Given the description of an element on the screen output the (x, y) to click on. 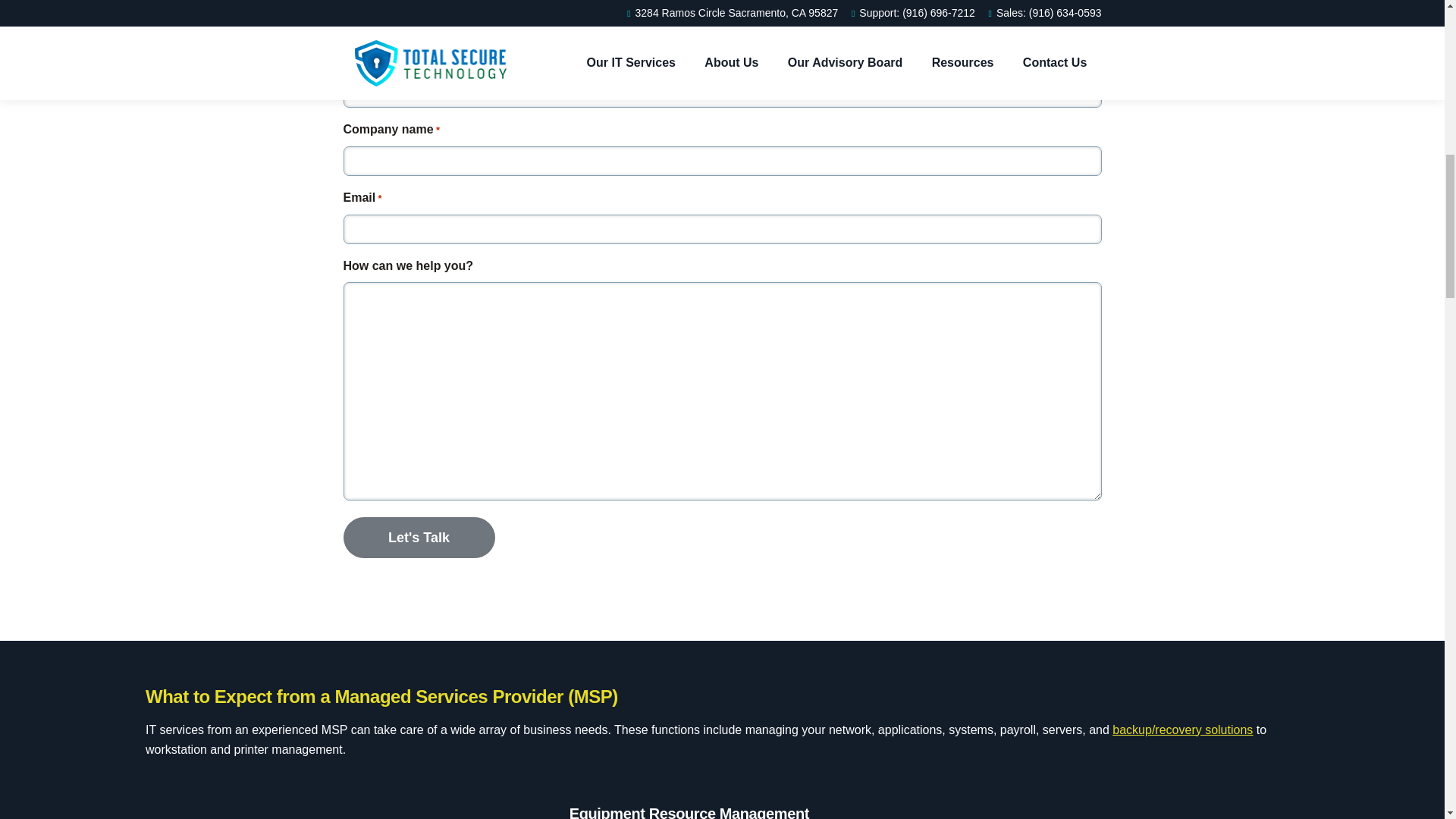
Let's Talk (418, 536)
Let's Talk (418, 536)
